Given the description of an element on the screen output the (x, y) to click on. 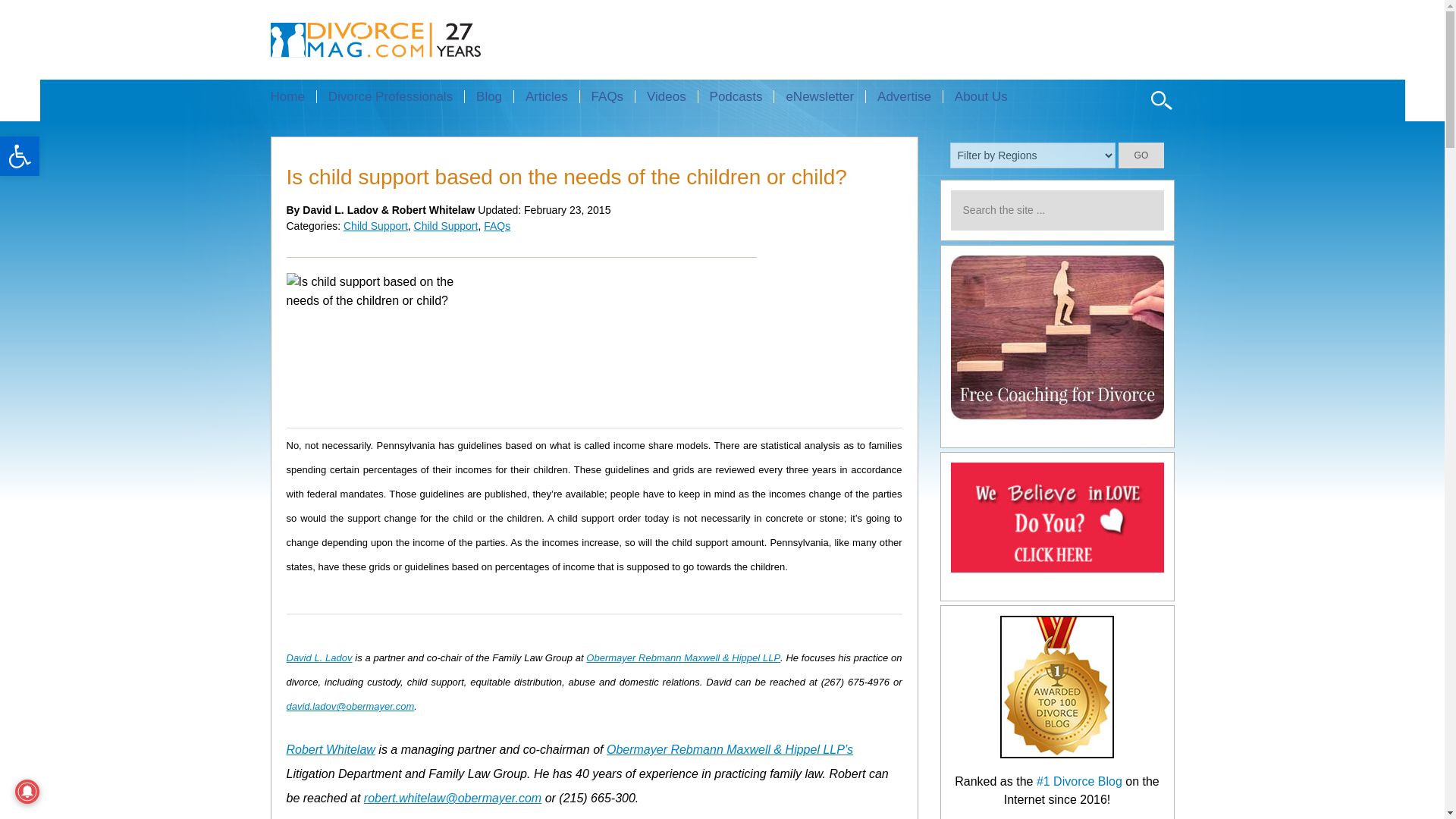
Divorce Magazine (401, 39)
Open toolbar (19, 156)
Divorce Professionals (389, 96)
Blog (488, 96)
Articles (546, 96)
Select Region (1032, 155)
Home (292, 96)
Accessibility Tools (19, 156)
